Given the description of an element on the screen output the (x, y) to click on. 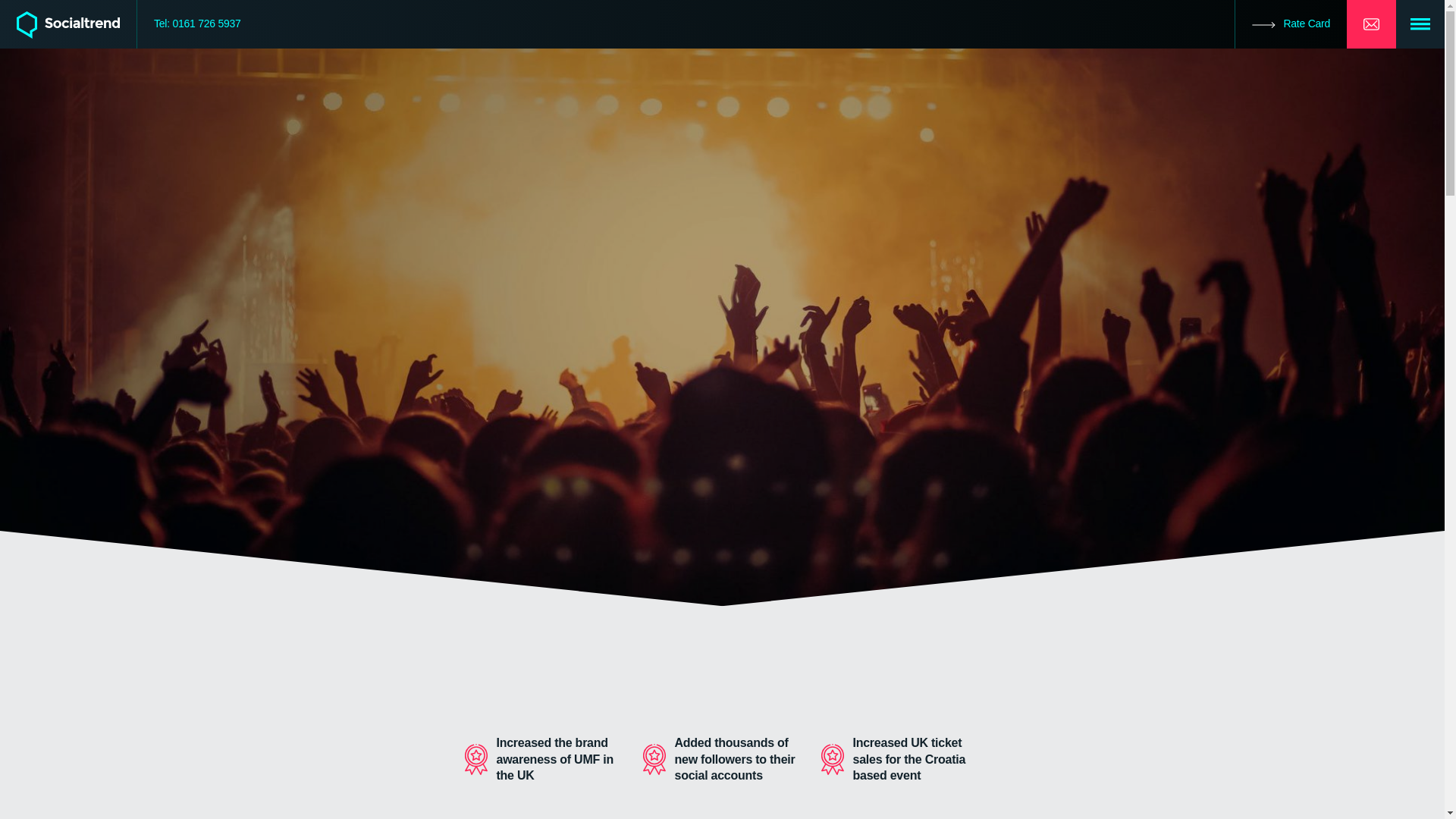
Tel: 0161 726 5937 (196, 24)
Rate Card (1290, 24)
